Given the description of an element on the screen output the (x, y) to click on. 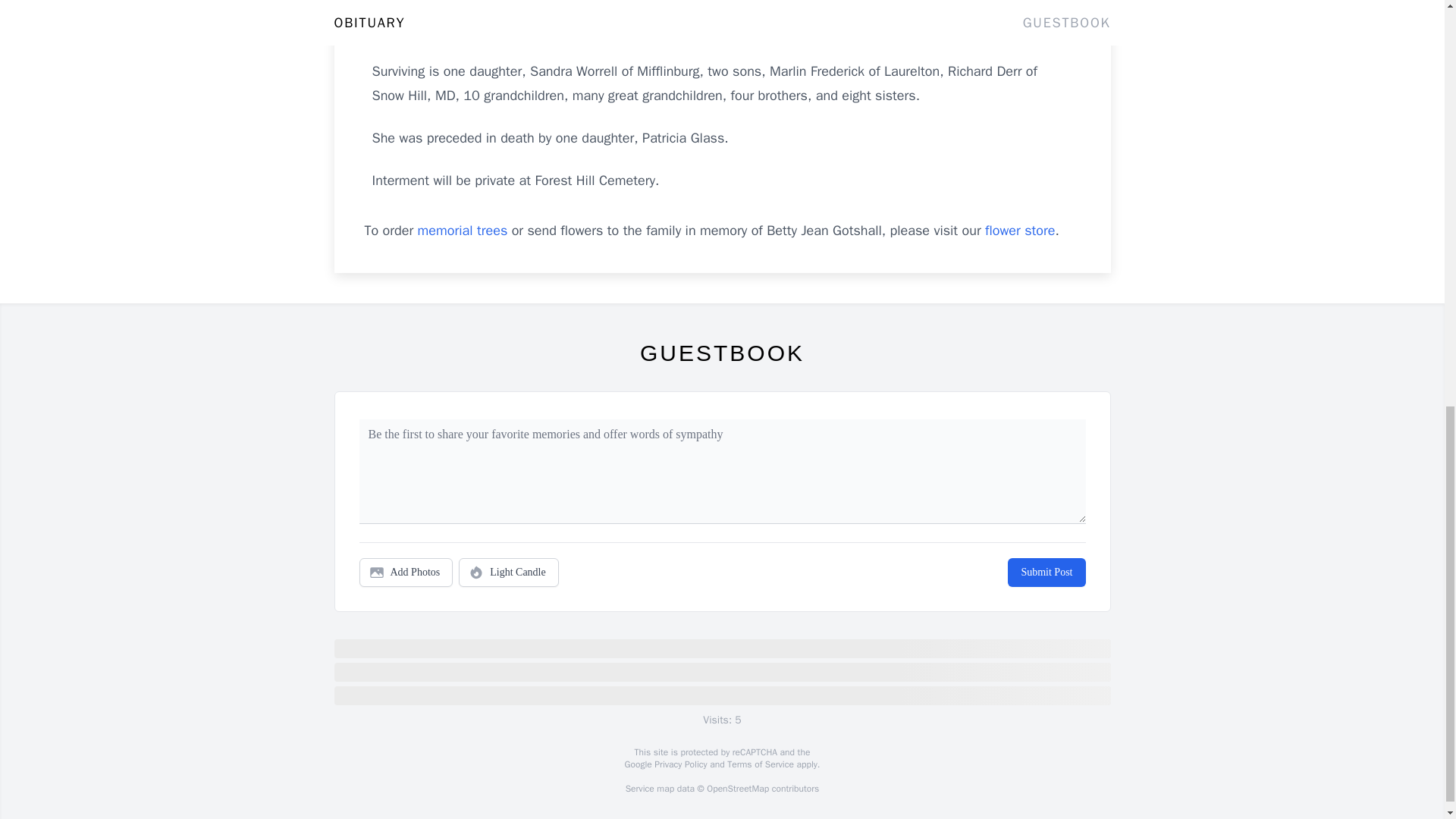
Add Photos (405, 572)
Submit Post (1045, 572)
memorial trees (462, 230)
flower store (1019, 230)
Light Candle (508, 572)
OpenStreetMap (737, 788)
Privacy Policy (679, 764)
Terms of Service (759, 764)
